Given the description of an element on the screen output the (x, y) to click on. 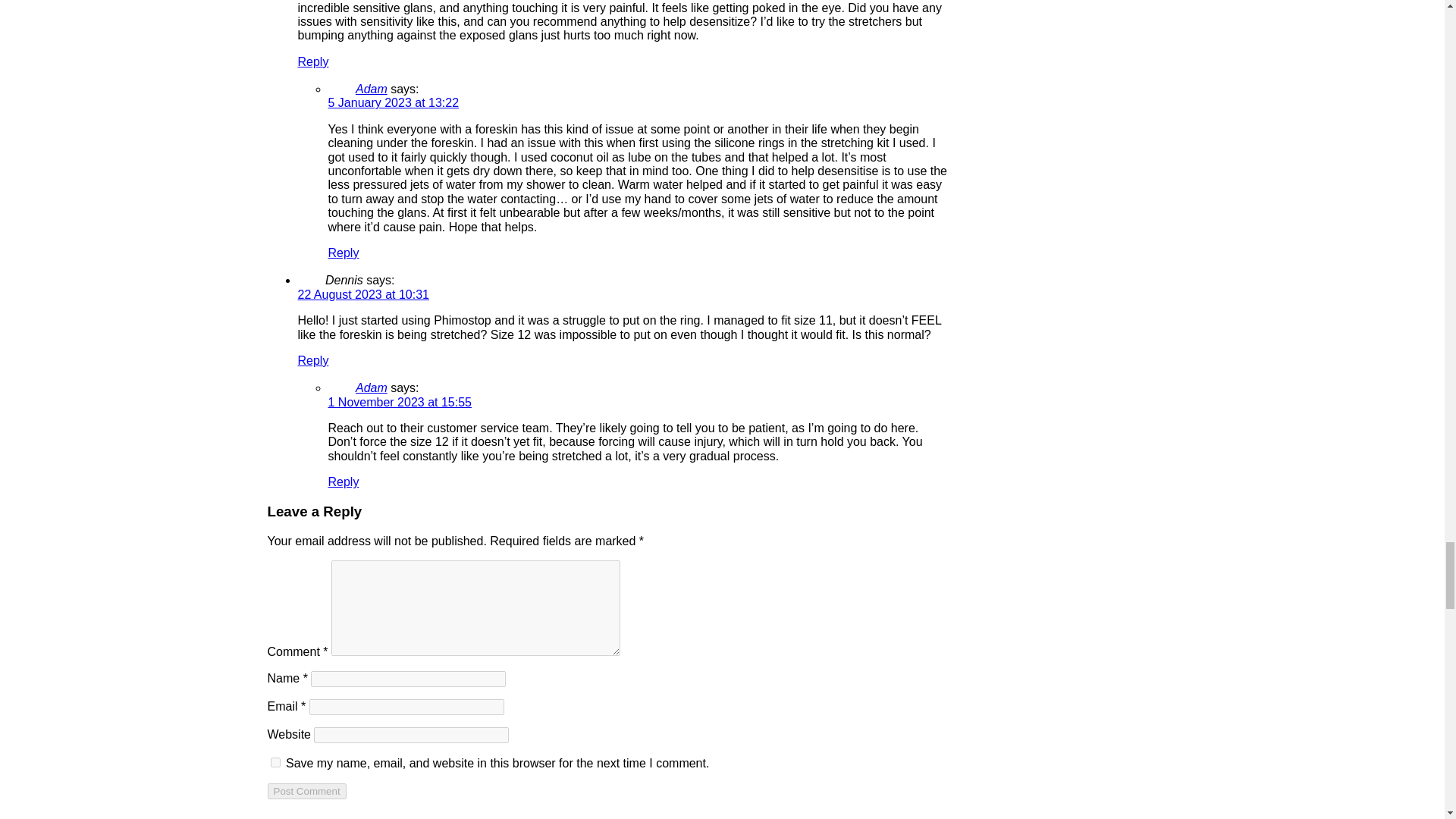
Post Comment (306, 790)
yes (274, 762)
